Given the description of an element on the screen output the (x, y) to click on. 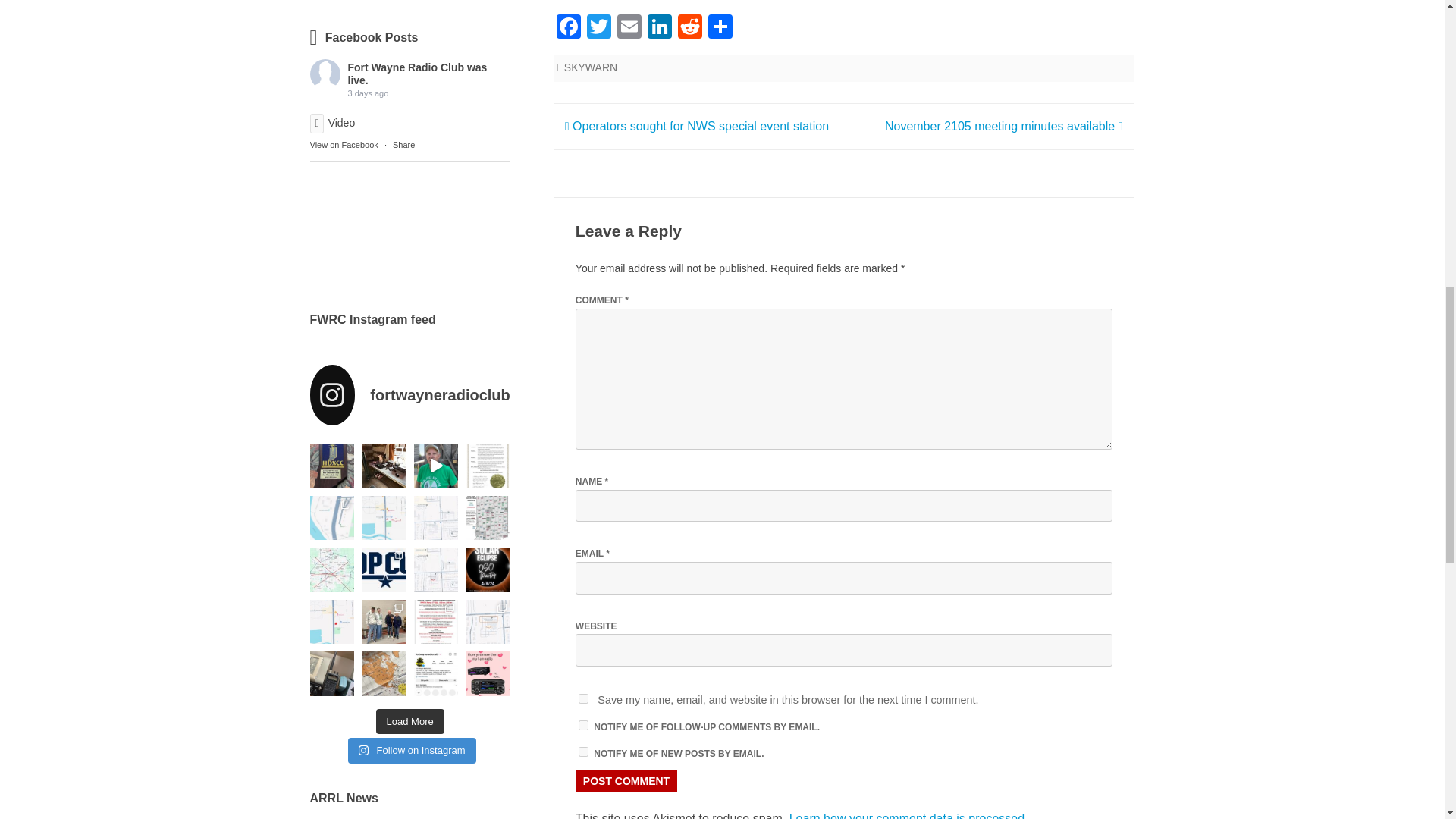
View more events. (343, 0)
yes (583, 698)
Facebook (568, 28)
LinkedIn (660, 28)
subscribe (583, 751)
Reddit (689, 28)
Email (629, 28)
Twitter (598, 28)
Post Comment (626, 780)
subscribe (583, 725)
